Given the description of an element on the screen output the (x, y) to click on. 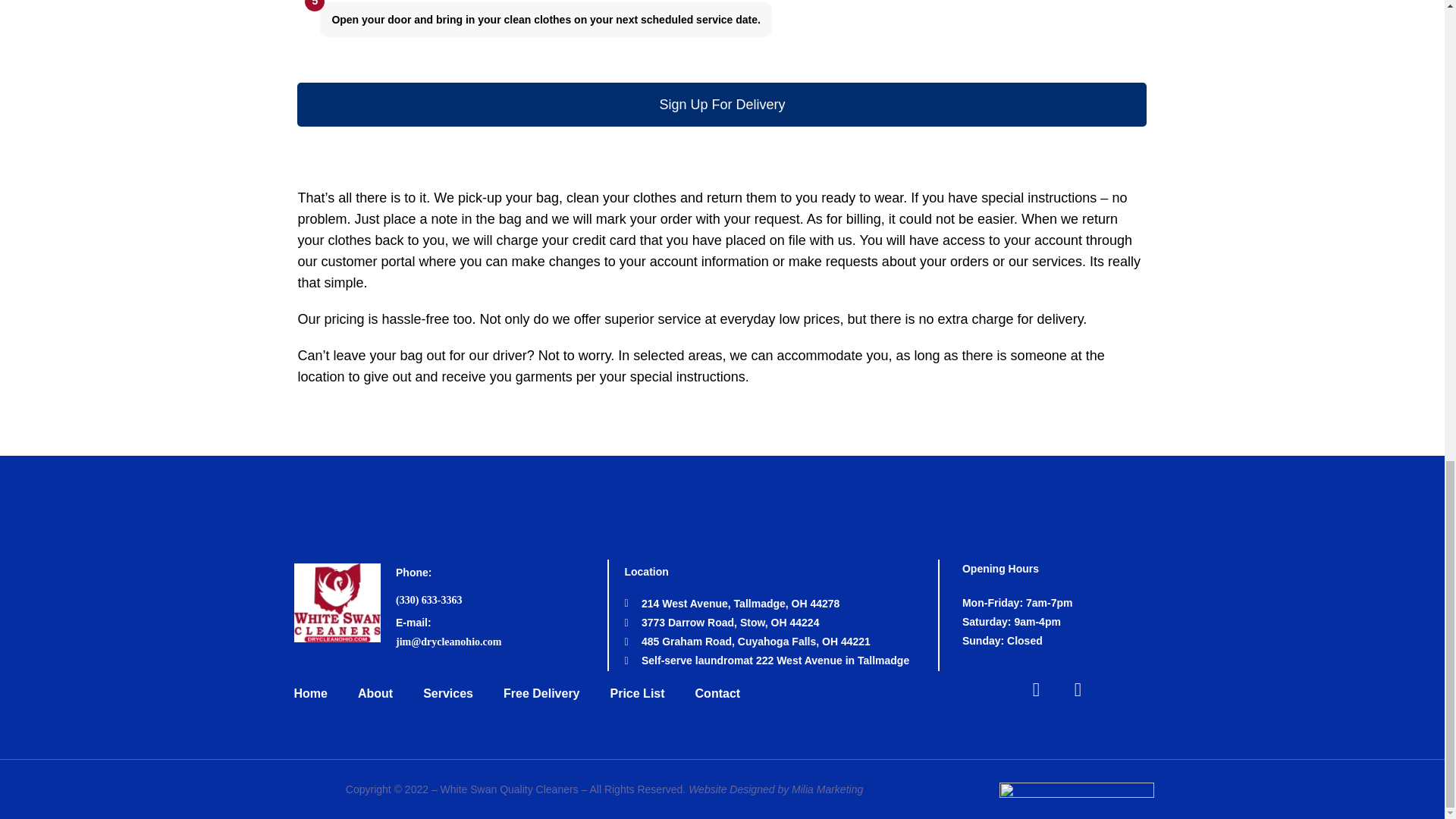
Sign Up For Delivery (722, 104)
Home (318, 693)
